Given the description of an element on the screen output the (x, y) to click on. 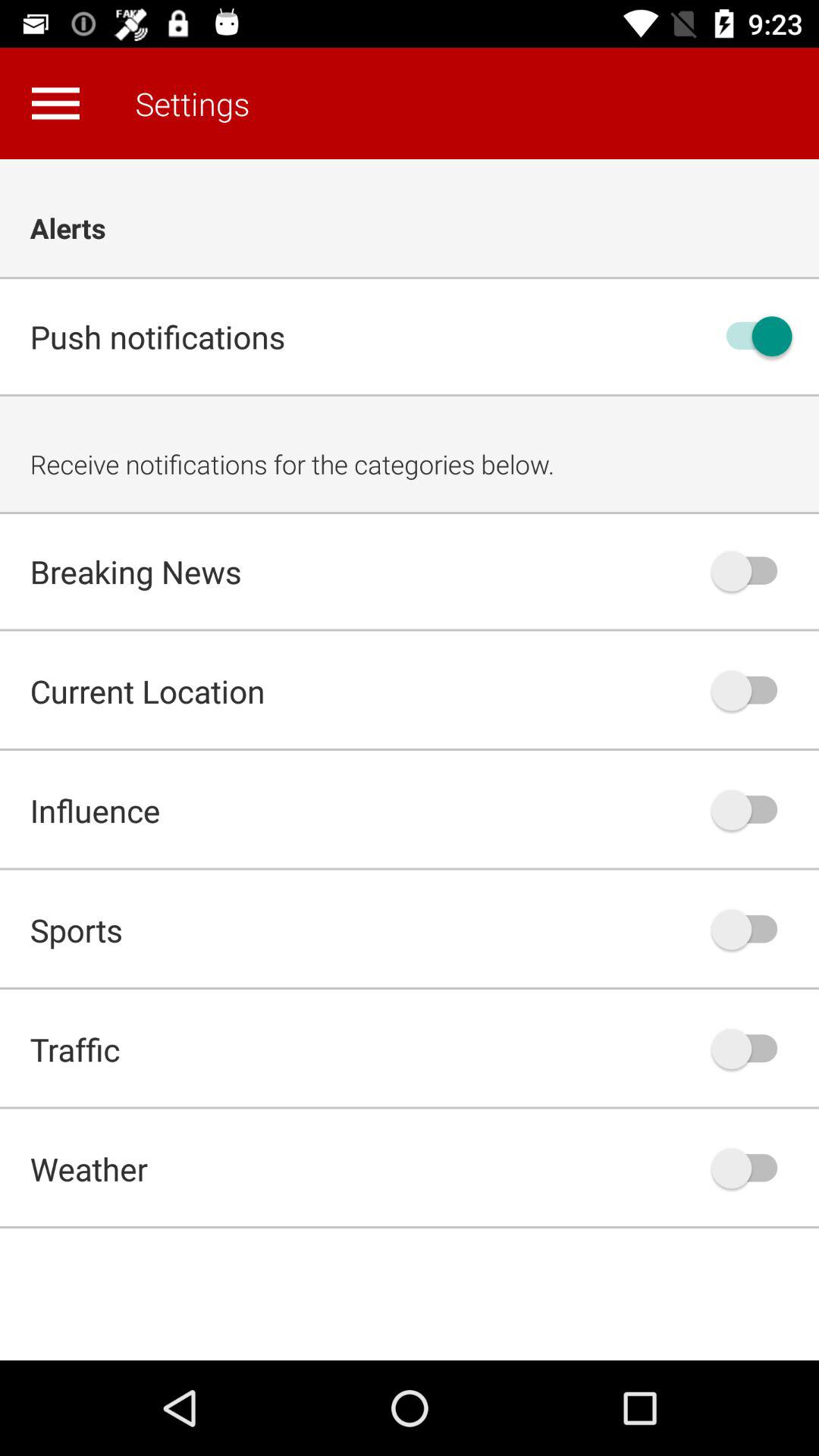
toggle weather notification option (751, 1168)
